Given the description of an element on the screen output the (x, y) to click on. 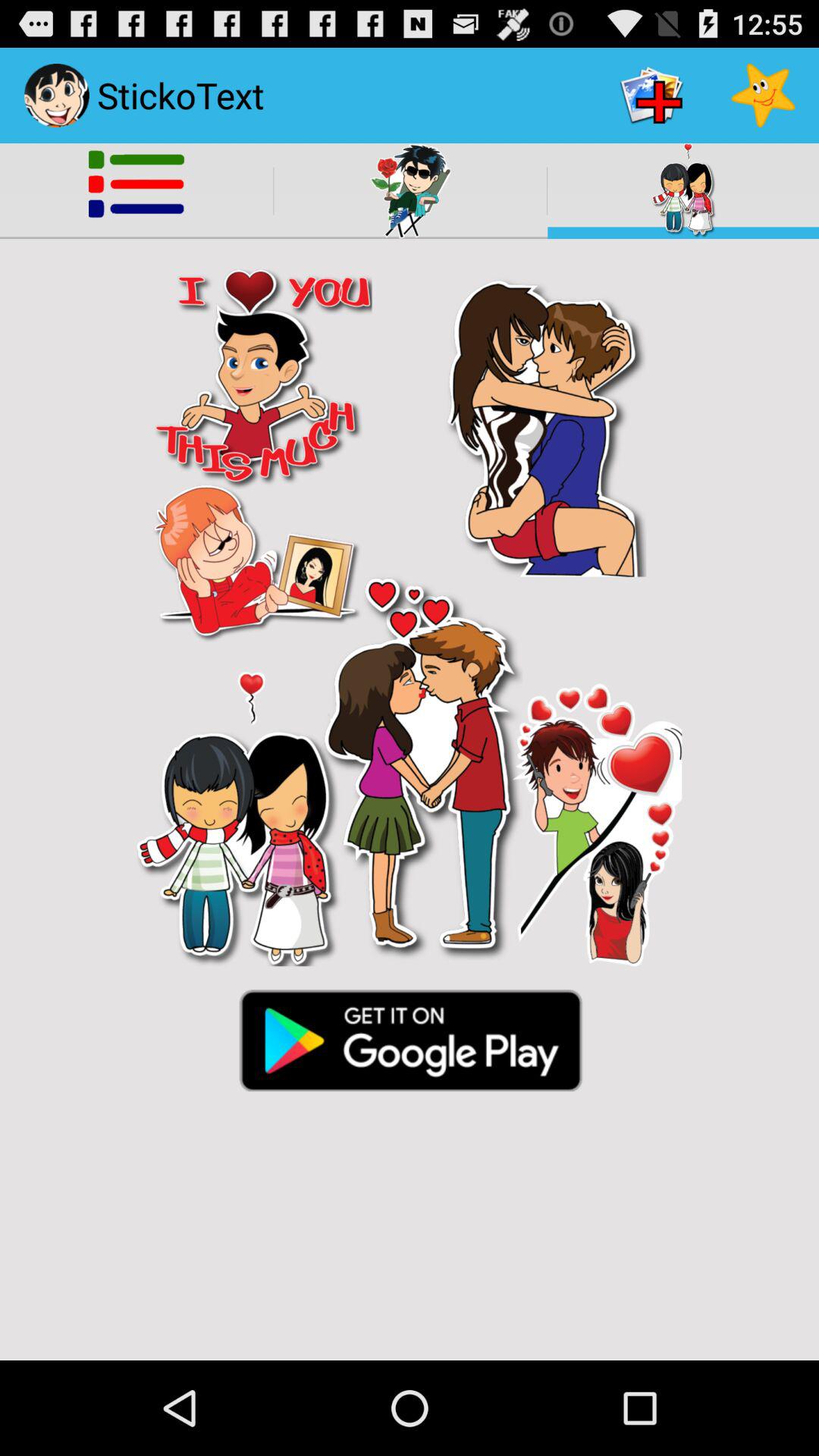
launch the item at the bottom (409, 1038)
